Given the description of an element on the screen output the (x, y) to click on. 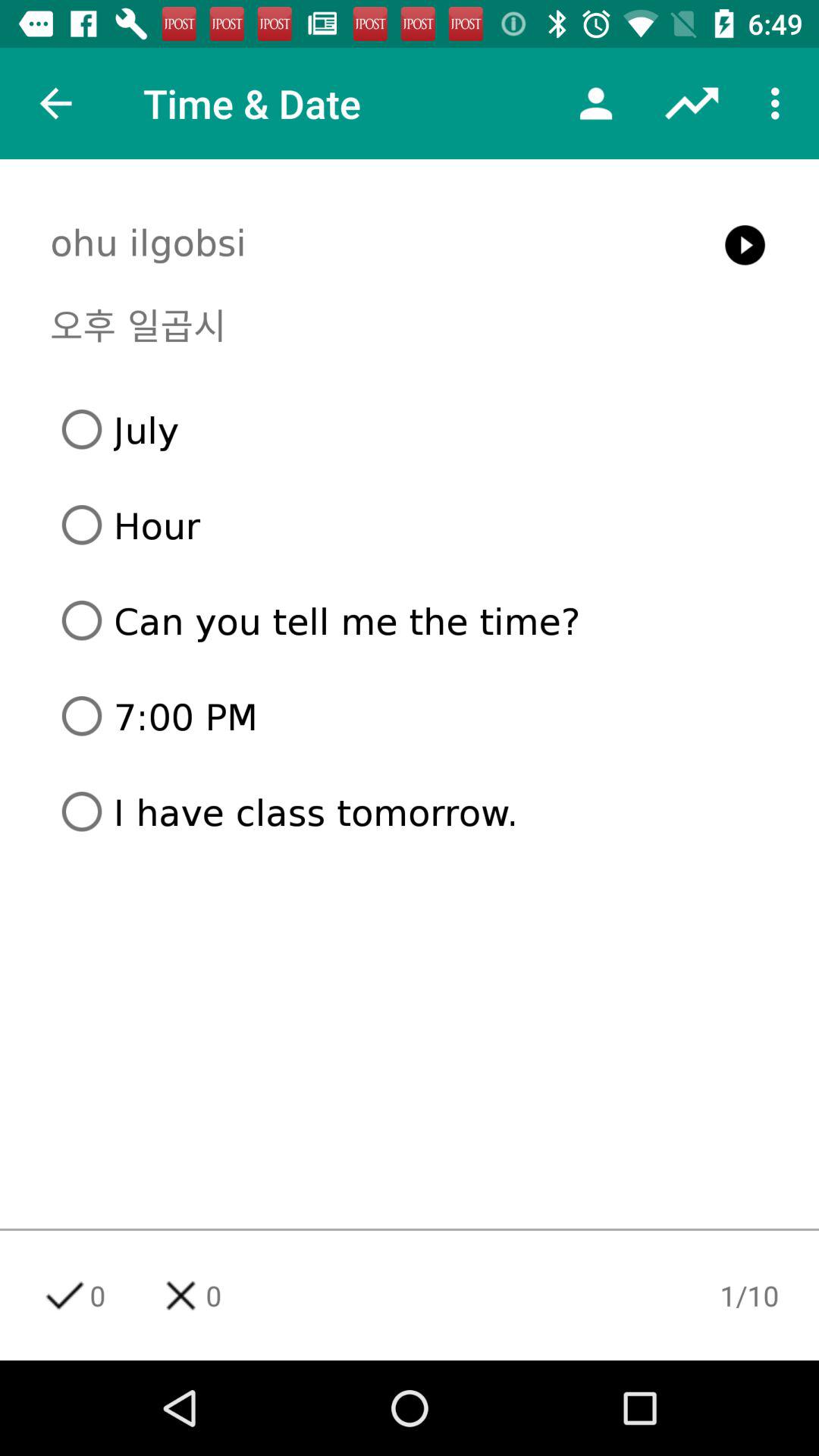
tap icon below july item (415, 524)
